Given the description of an element on the screen output the (x, y) to click on. 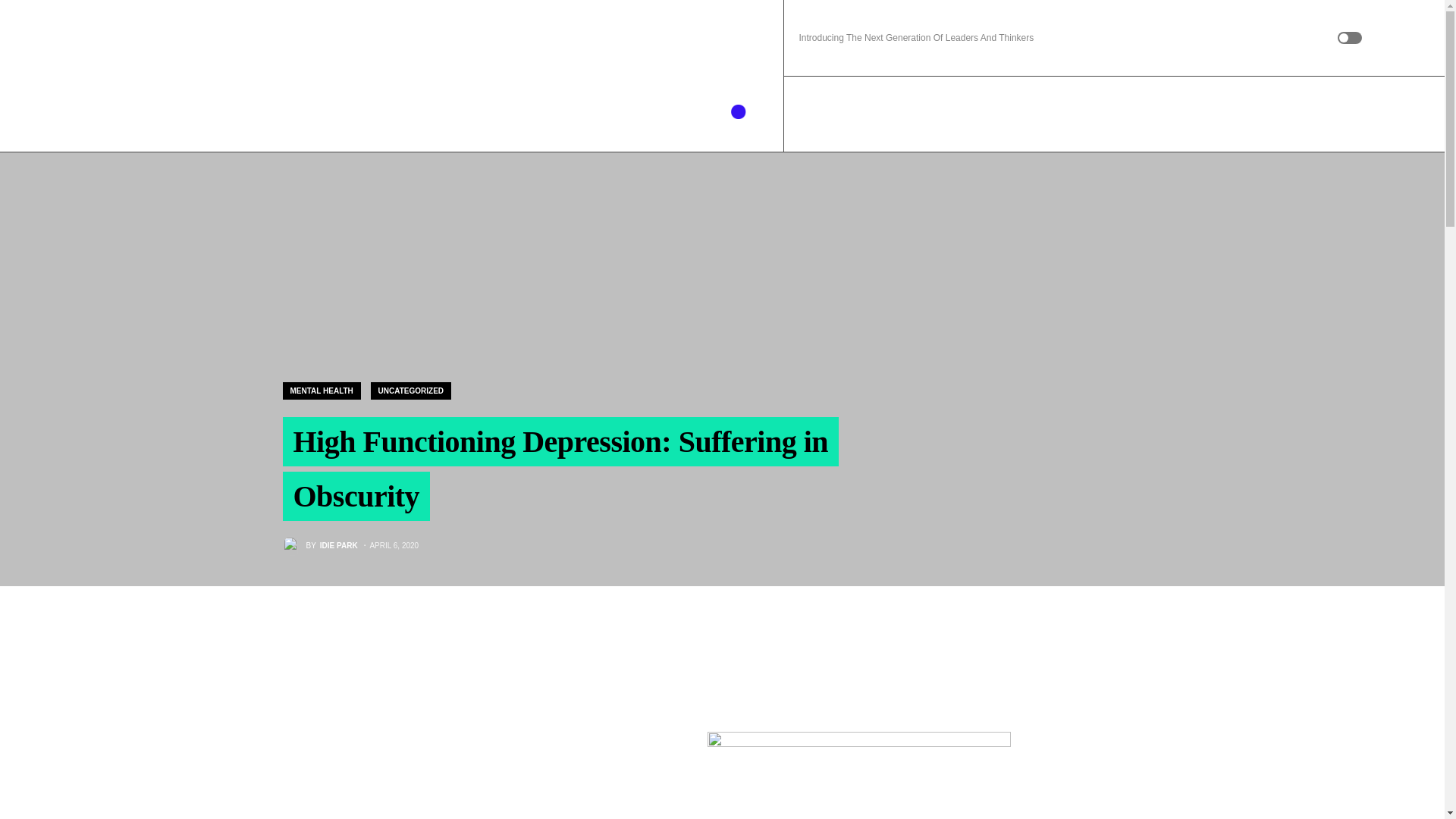
Advertisement (395, 717)
Mental Health (1347, 114)
View all posts by Idie Park (319, 545)
